Given the description of an element on the screen output the (x, y) to click on. 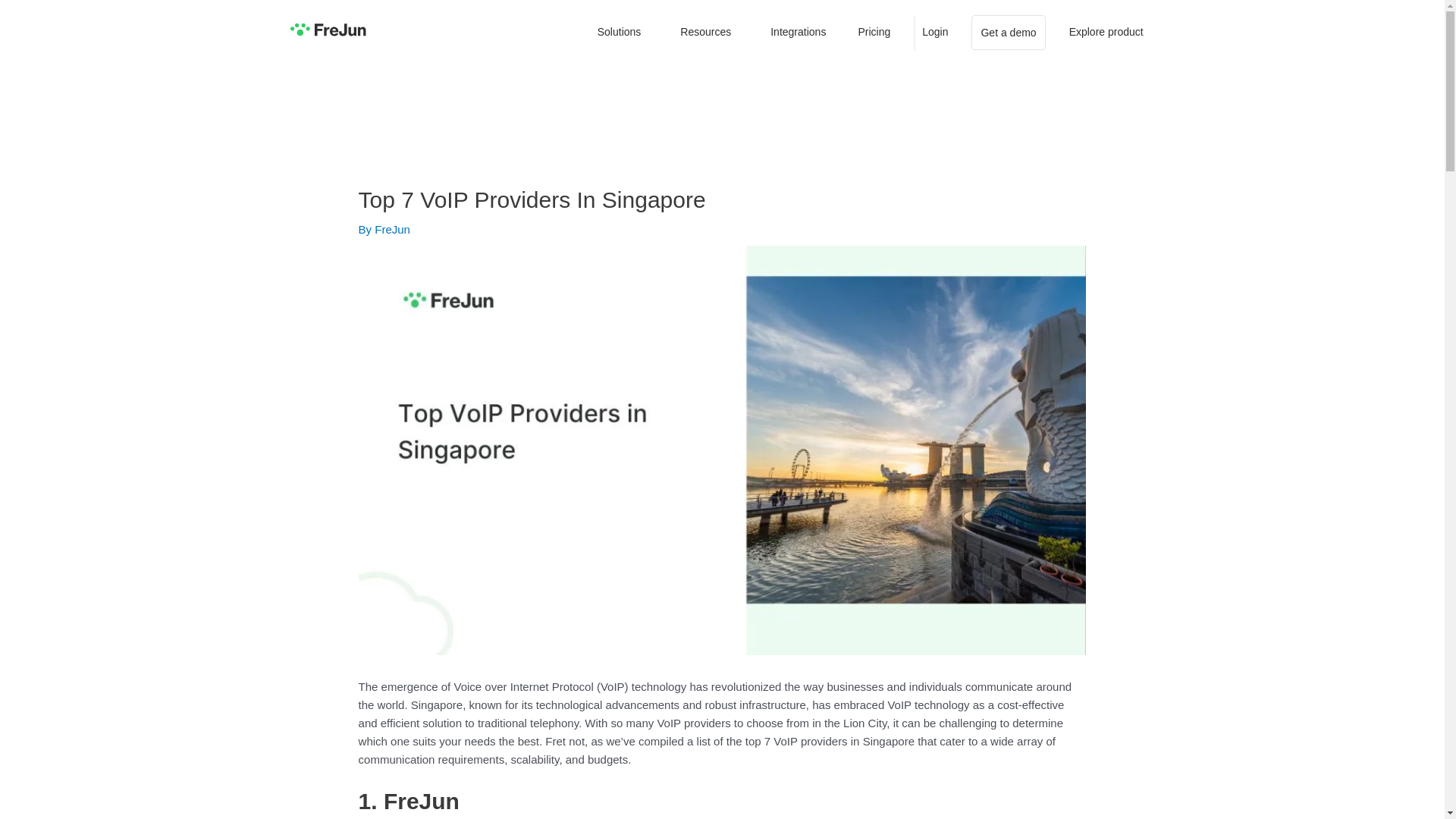
Resources (708, 31)
FreJun (392, 228)
Get a demo (1008, 32)
View all posts by FreJun (392, 228)
Login (935, 31)
Solutions (623, 31)
Explore product (1106, 31)
Pricing (873, 31)
Integrations (797, 31)
